Given the description of an element on the screen output the (x, y) to click on. 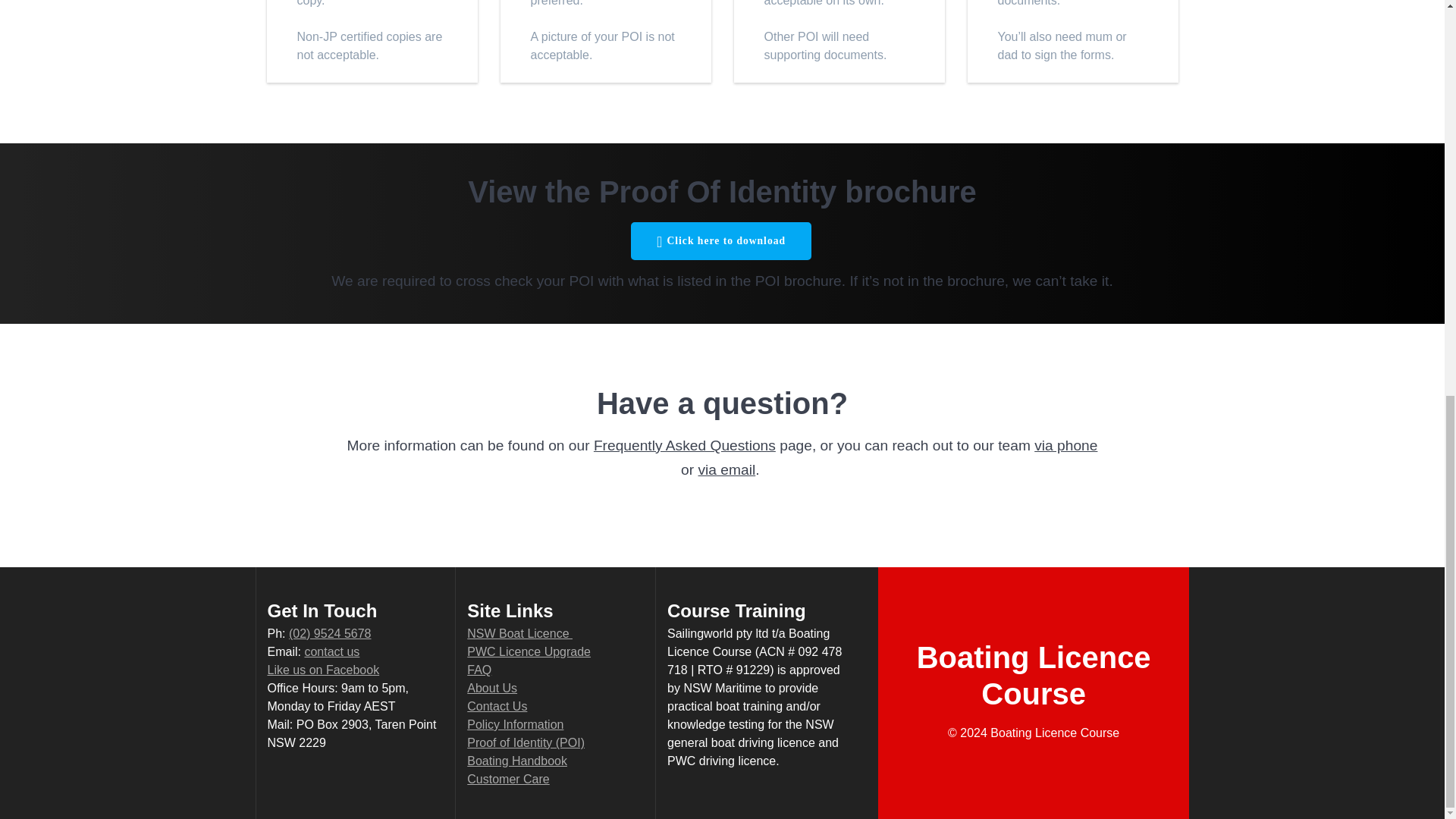
PWC Licence Upgrade (529, 651)
via phone (1065, 445)
Like us on Facebook (322, 669)
Click here to download (720, 240)
FAQ (479, 669)
Contact Us (497, 706)
contact us (331, 651)
Frequently Asked Questions (685, 445)
NSW Boat Licence  (519, 633)
About Us (491, 687)
